Given the description of an element on the screen output the (x, y) to click on. 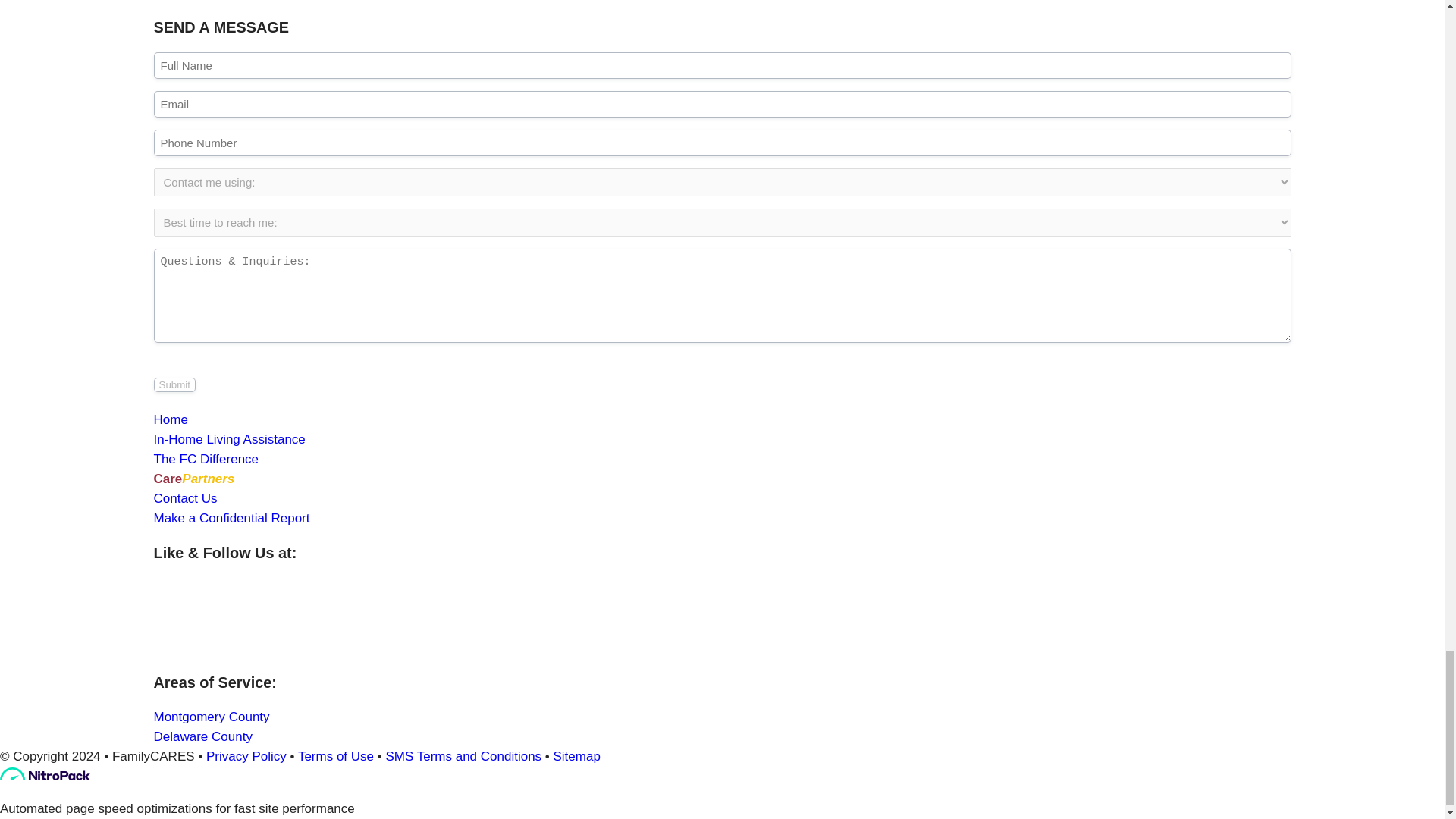
Make a Confidential Report (230, 518)
The FC Difference (205, 459)
Home (169, 419)
CarePartners (193, 478)
Submit (173, 384)
In-Home Living Assistance (228, 439)
In-Home Living Assistance (228, 439)
Submit (173, 384)
Contact Us (184, 498)
The FC Difference (205, 459)
